Given the description of an element on the screen output the (x, y) to click on. 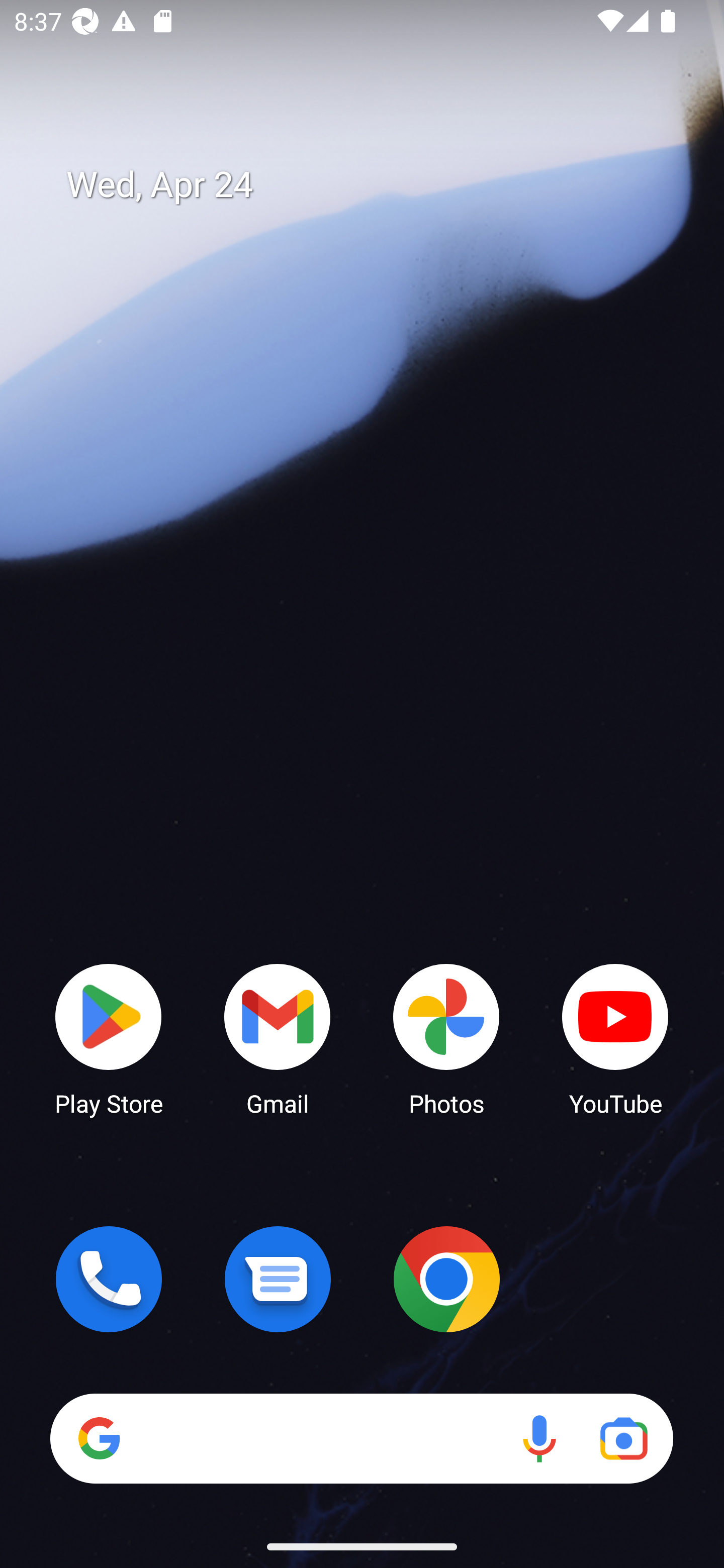
Wed, Apr 24 (375, 184)
Play Store (108, 1038)
Gmail (277, 1038)
Photos (445, 1038)
YouTube (615, 1038)
Phone (108, 1279)
Messages (277, 1279)
Chrome (446, 1279)
Search Voice search Google Lens (361, 1438)
Voice search (539, 1438)
Google Lens (623, 1438)
